Given the description of an element on the screen output the (x, y) to click on. 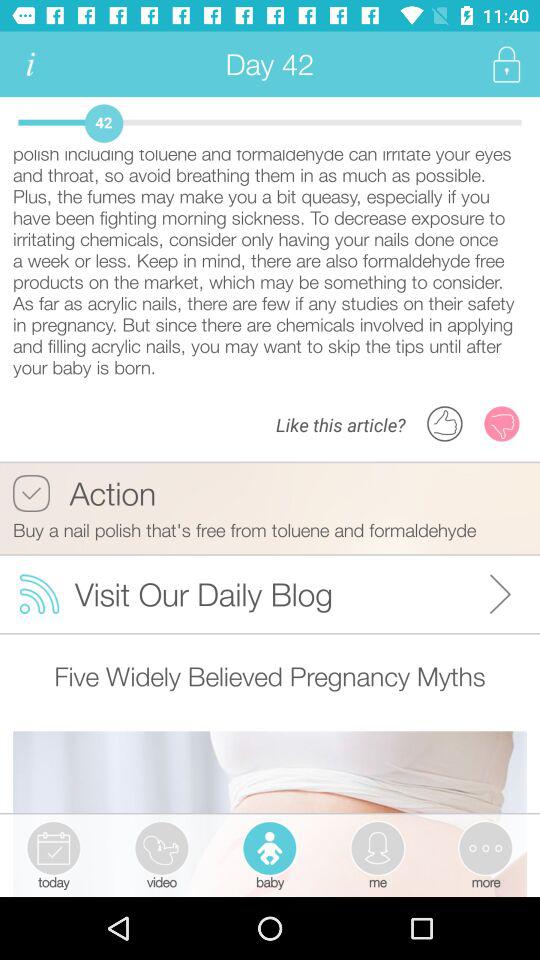
scroll until the action icon (84, 493)
